Given the description of an element on the screen output the (x, y) to click on. 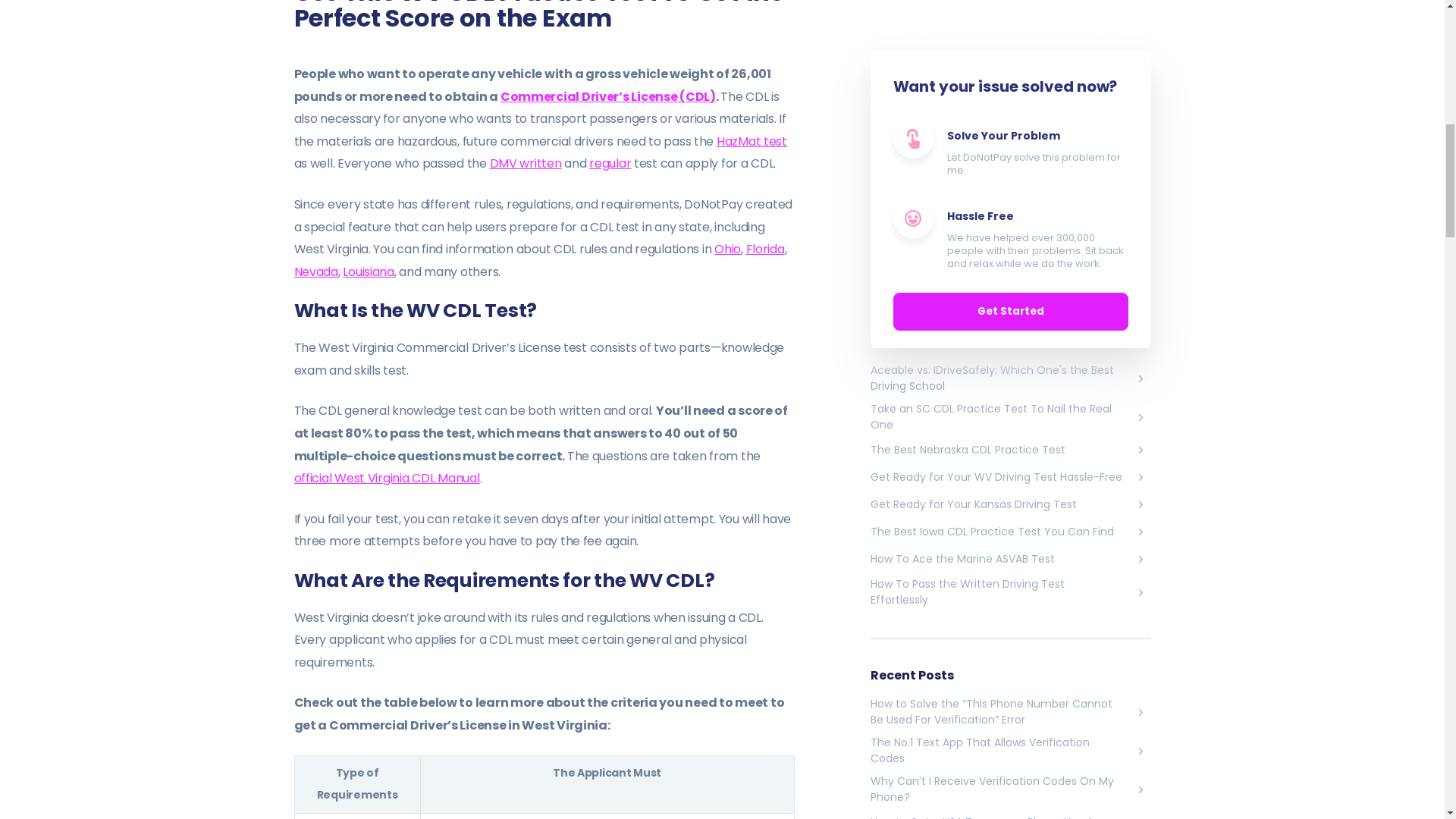
Florida (764, 248)
regular (609, 162)
Ohio (727, 248)
official West Virginia CDL Manual (387, 477)
Louisiana (368, 271)
DMV written (525, 162)
Nevada (315, 271)
HazMat test (751, 140)
